Given the description of an element on the screen output the (x, y) to click on. 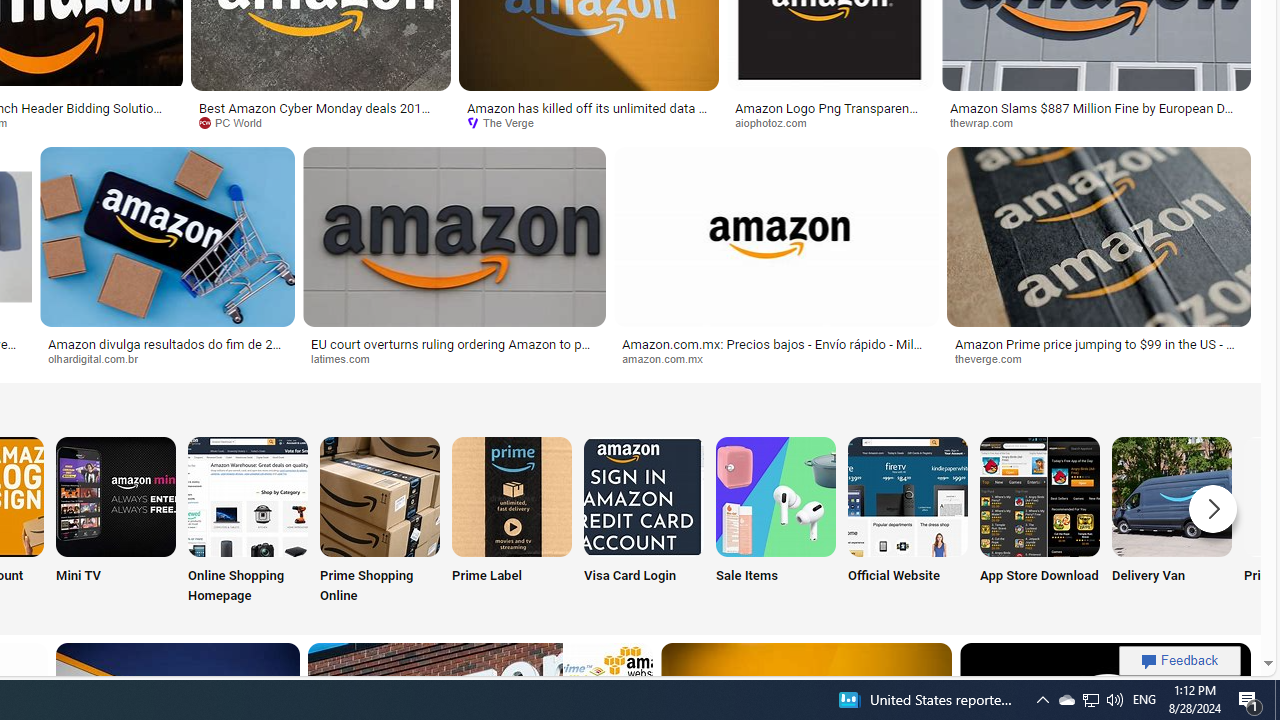
Amazon Sale Items Sale Items (775, 521)
Amazon App Store Download (1039, 496)
Prime Label (511, 521)
aiophotoz.com (777, 121)
Amazon Prime Label (511, 496)
Amazon Prime Shopping Online (380, 496)
theverge.com (1098, 359)
latimes.com (454, 359)
Amazon Online Shopping Homepage Online Shopping Homepage (248, 521)
Official Website (907, 521)
Amazon Visa Card Login (643, 496)
Amazon Visa Card Login Visa Card Login (643, 521)
